Given the description of an element on the screen output the (x, y) to click on. 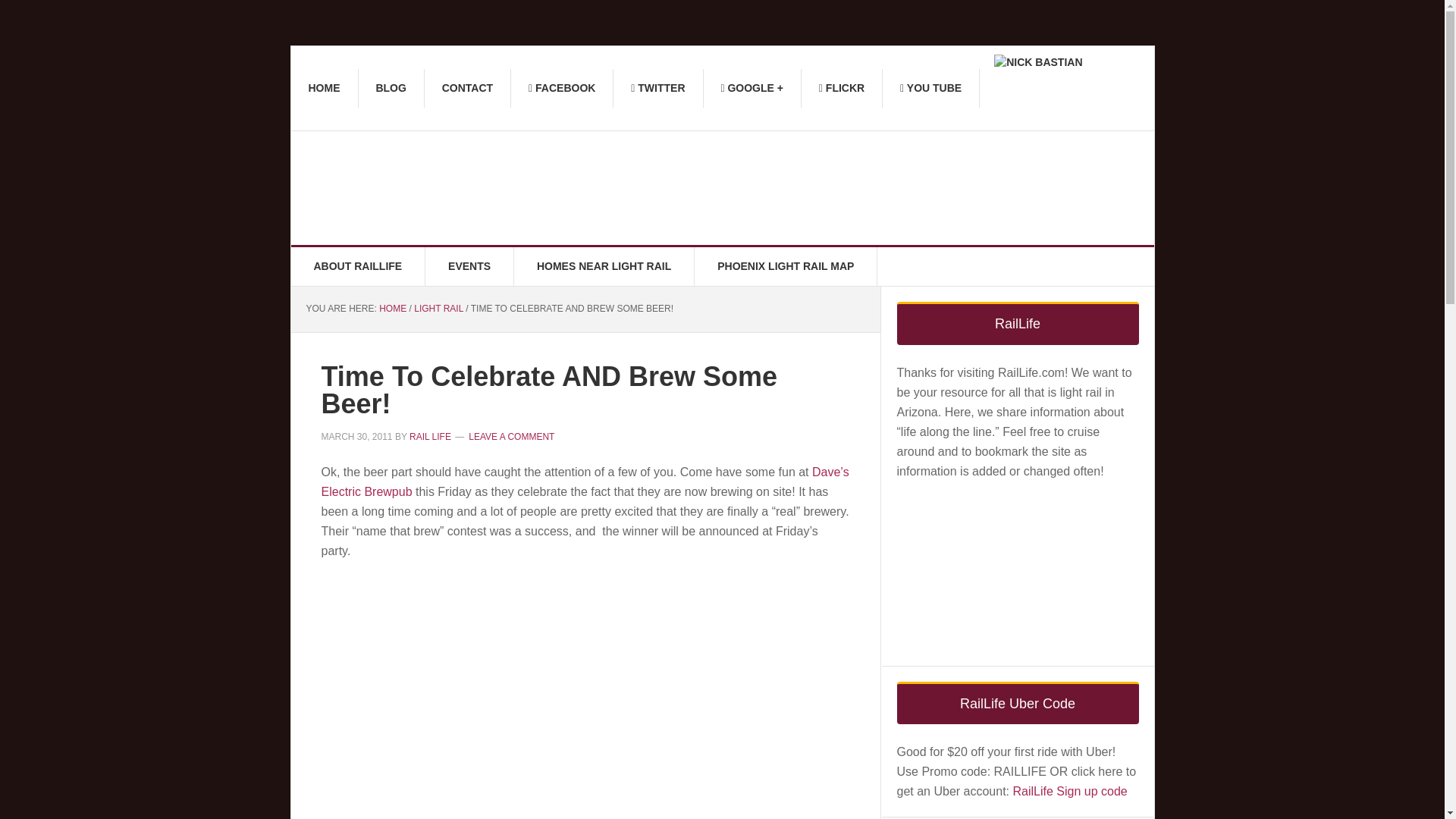
BLOG (390, 87)
FACEBOOK (561, 87)
YOU TUBE (930, 87)
PHOENIX LIGHT RAIL MAP (785, 266)
RailLife Sign up code (1068, 790)
HOME (392, 308)
HOME (324, 87)
FLICKR (842, 87)
LEAVE A COMMENT (511, 435)
Nick Bastian (1037, 62)
